Given the description of an element on the screen output the (x, y) to click on. 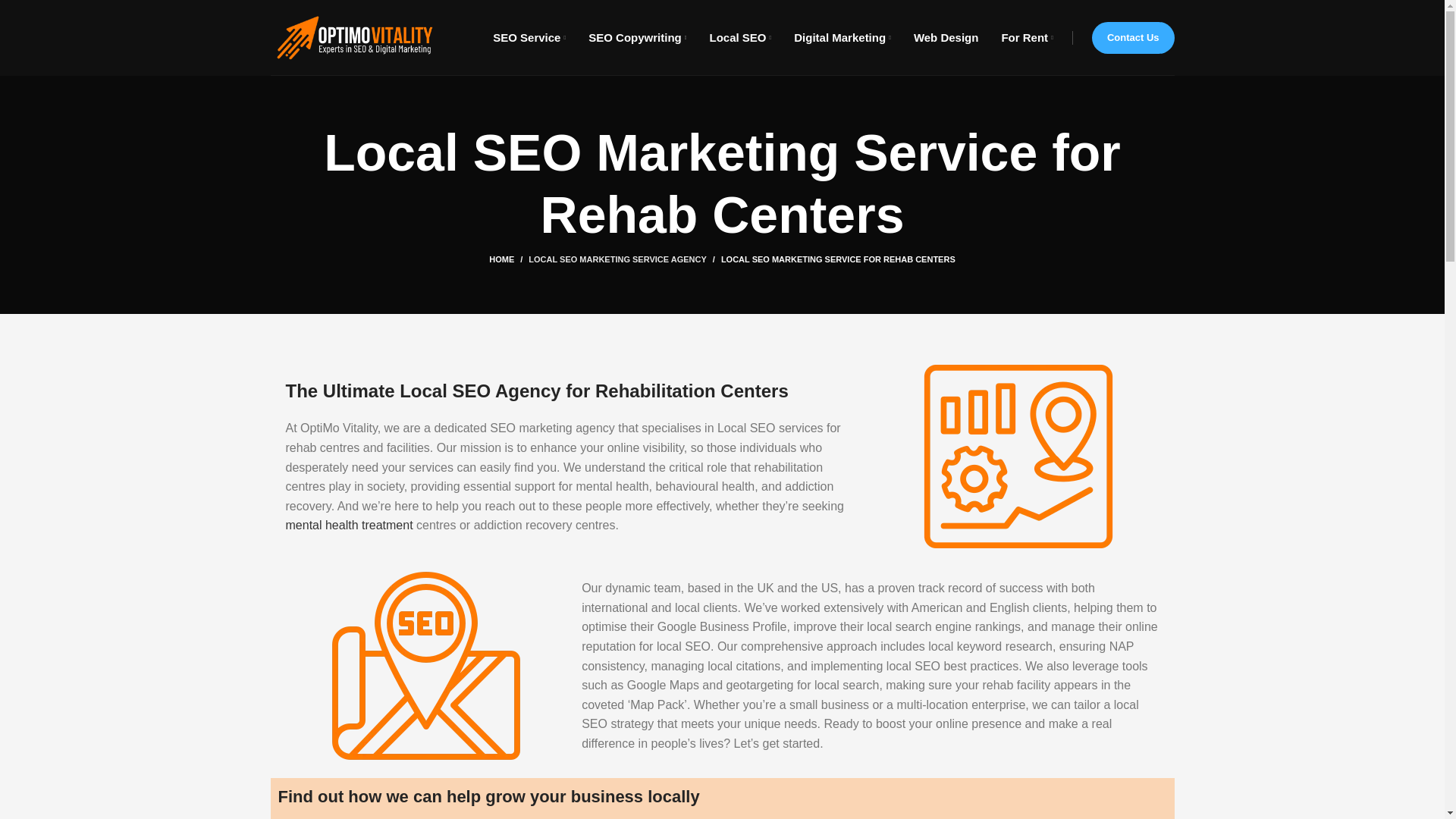
SEO Service (529, 37)
